Given the description of an element on the screen output the (x, y) to click on. 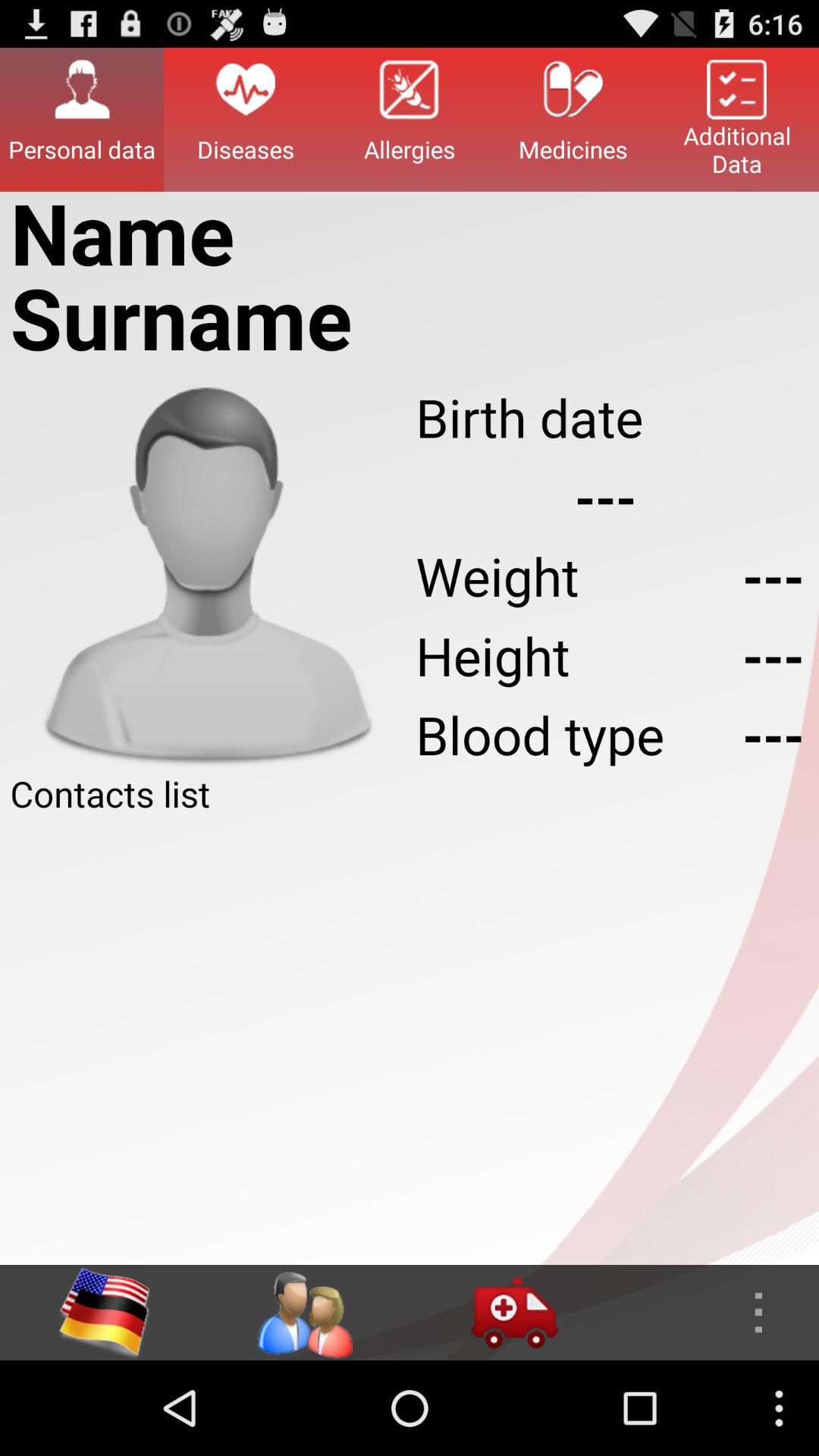
click icon next to allergies (245, 119)
